Given the description of an element on the screen output the (x, y) to click on. 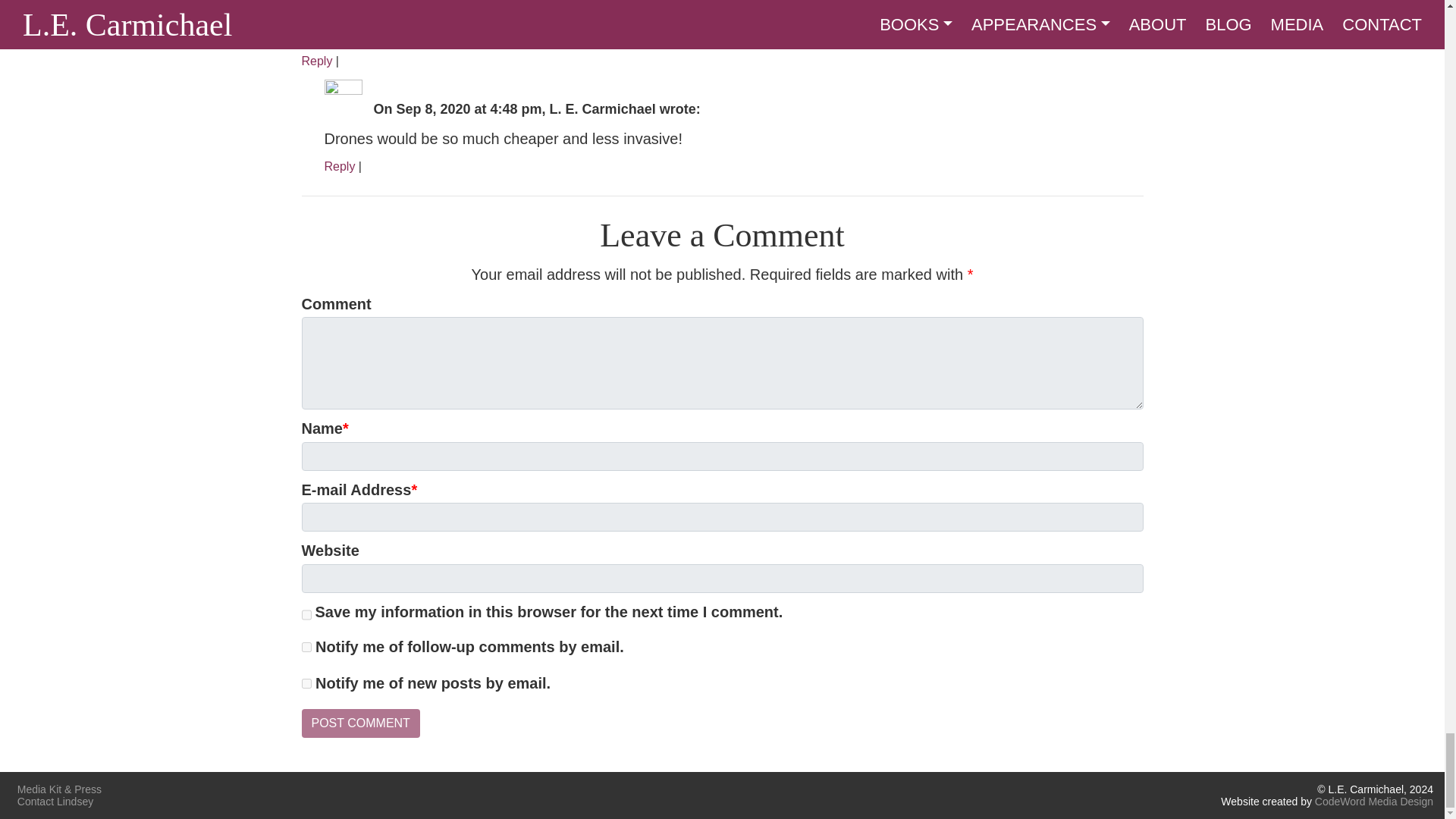
subscribe (306, 646)
yes (306, 615)
Post Comment (360, 723)
subscribe (306, 683)
